Given the description of an element on the screen output the (x, y) to click on. 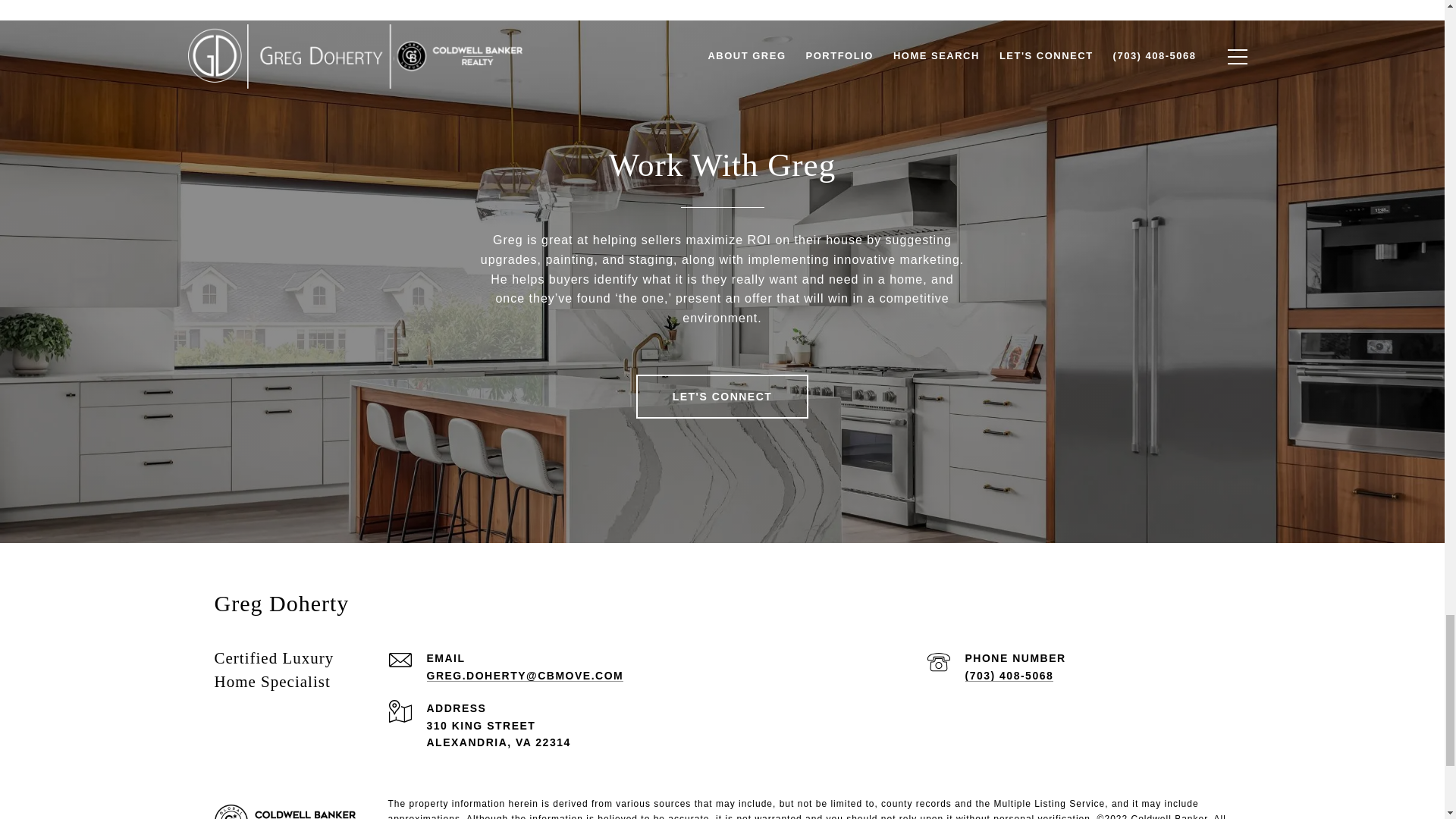
LET'S CONNECT (722, 396)
